Given the description of an element on the screen output the (x, y) to click on. 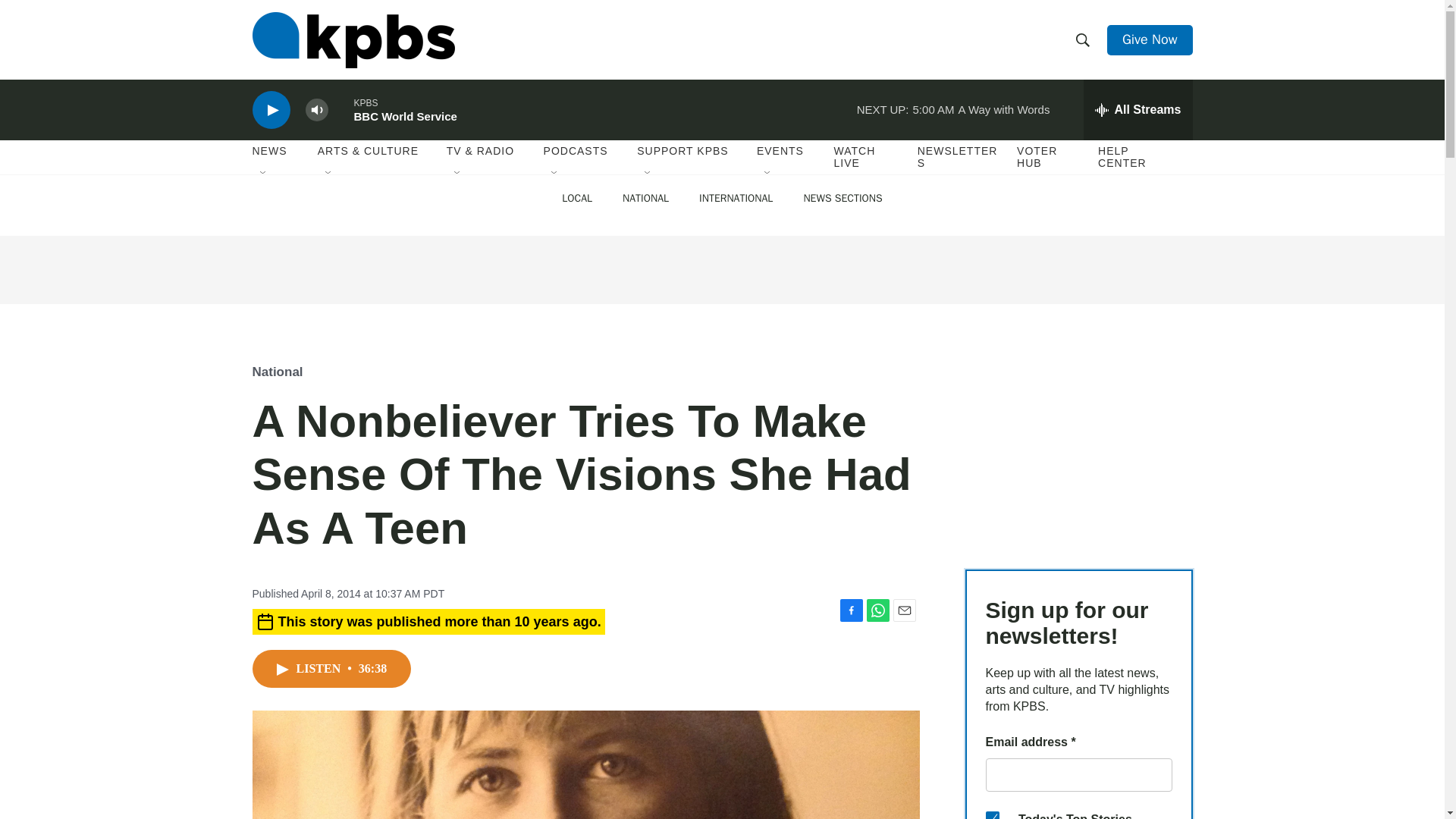
4 (991, 815)
3rd party ad content (721, 269)
3rd party ad content (1077, 443)
